Given the description of an element on the screen output the (x, y) to click on. 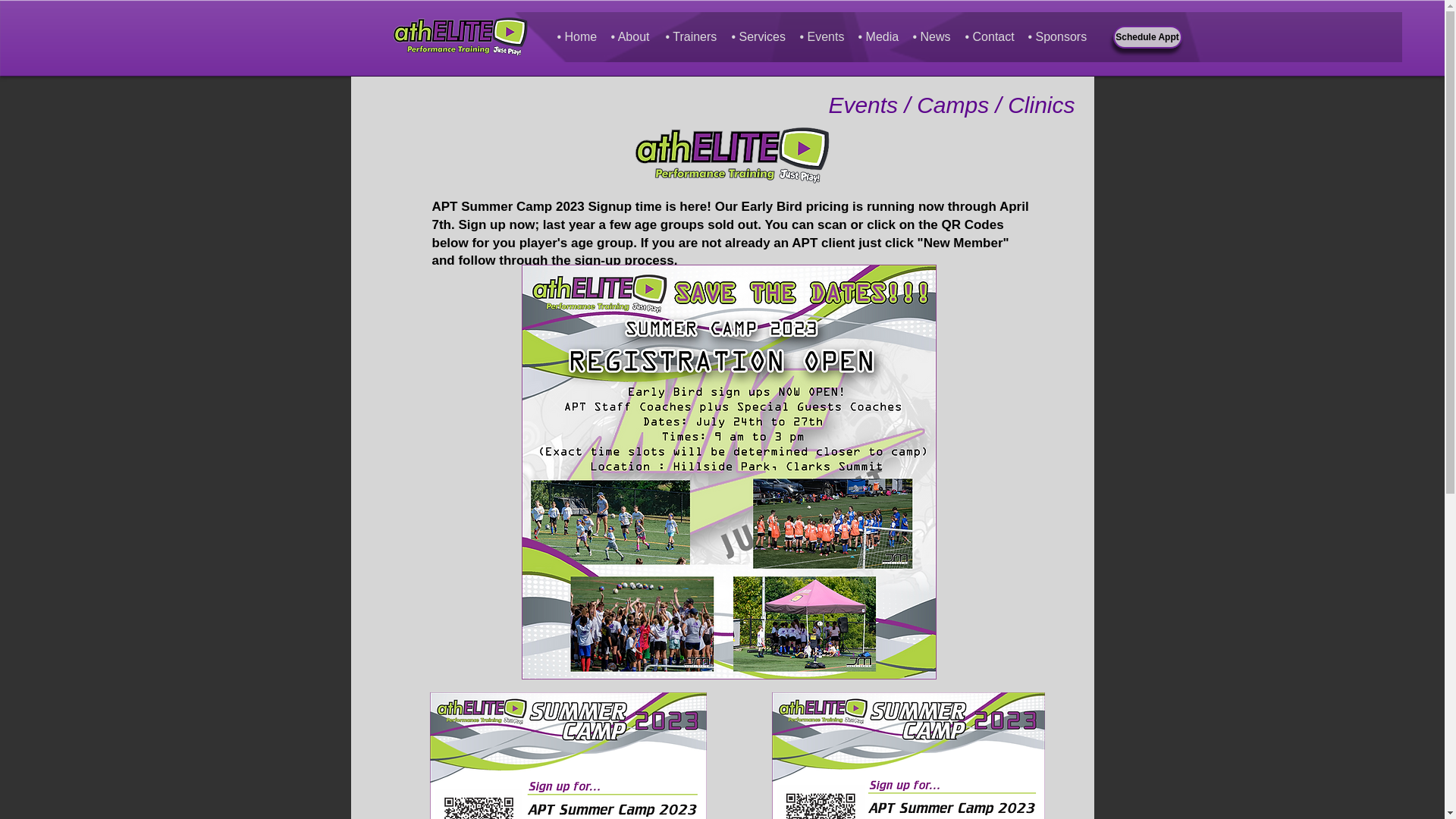
Schedule Appt (1147, 36)
